Given the description of an element on the screen output the (x, y) to click on. 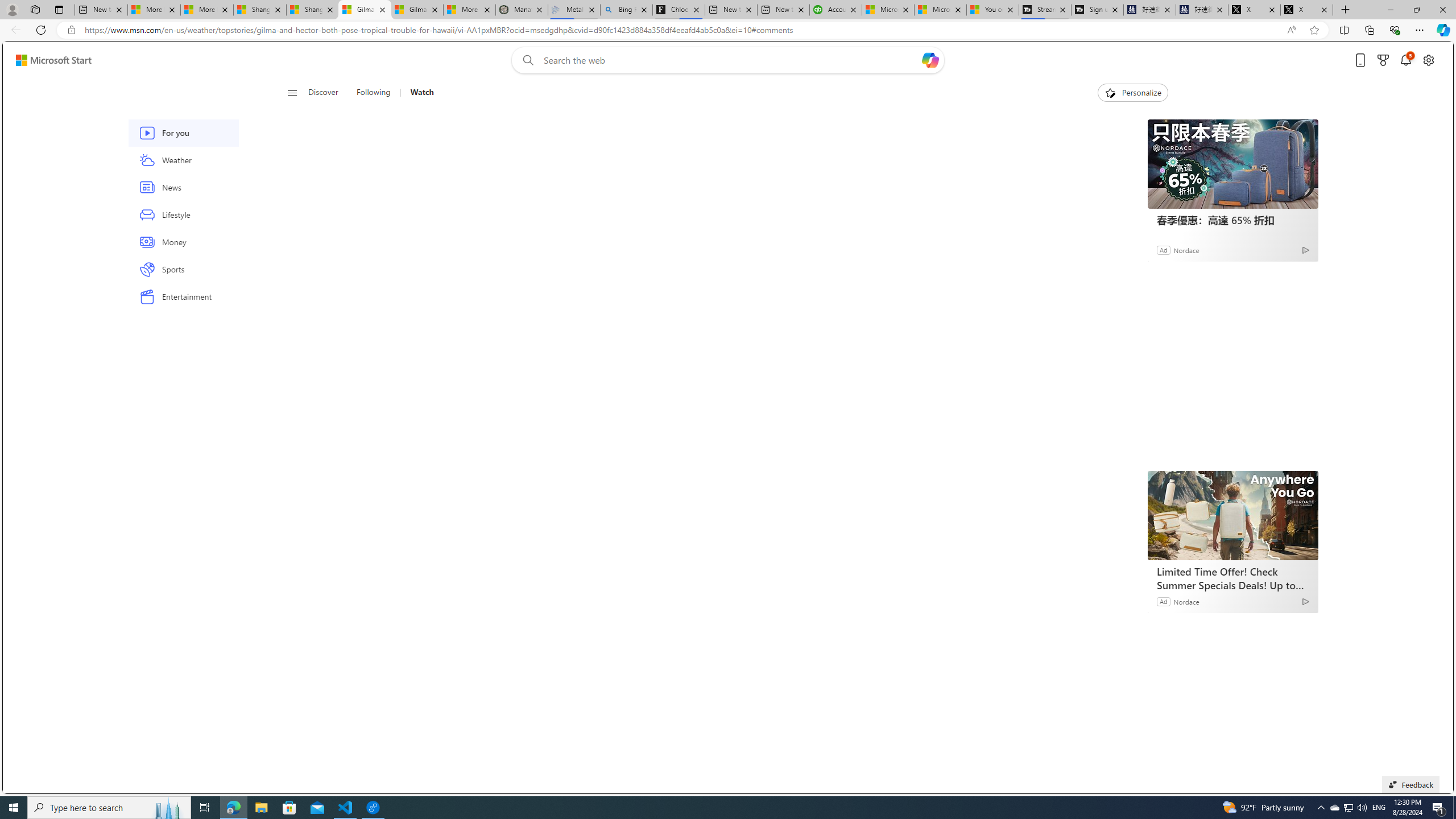
Open navigation menu (292, 92)
Enter your search term (730, 59)
Chloe Sorvino (678, 9)
Personalize (1132, 92)
